Given the description of an element on the screen output the (x, y) to click on. 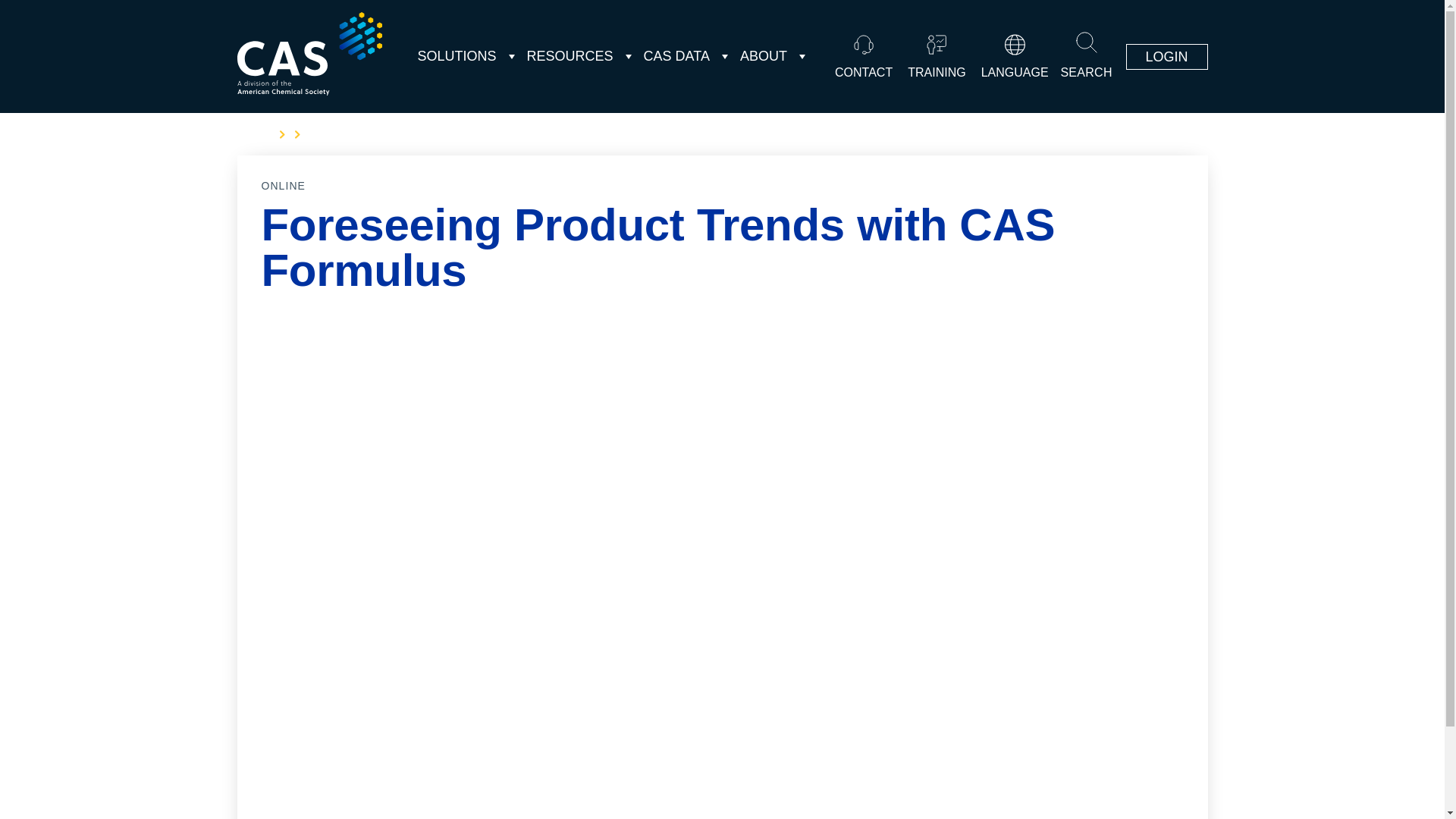
CAS DATA (676, 56)
SOLUTIONS (456, 56)
RESOURCES (569, 56)
